Given the description of an element on the screen output the (x, y) to click on. 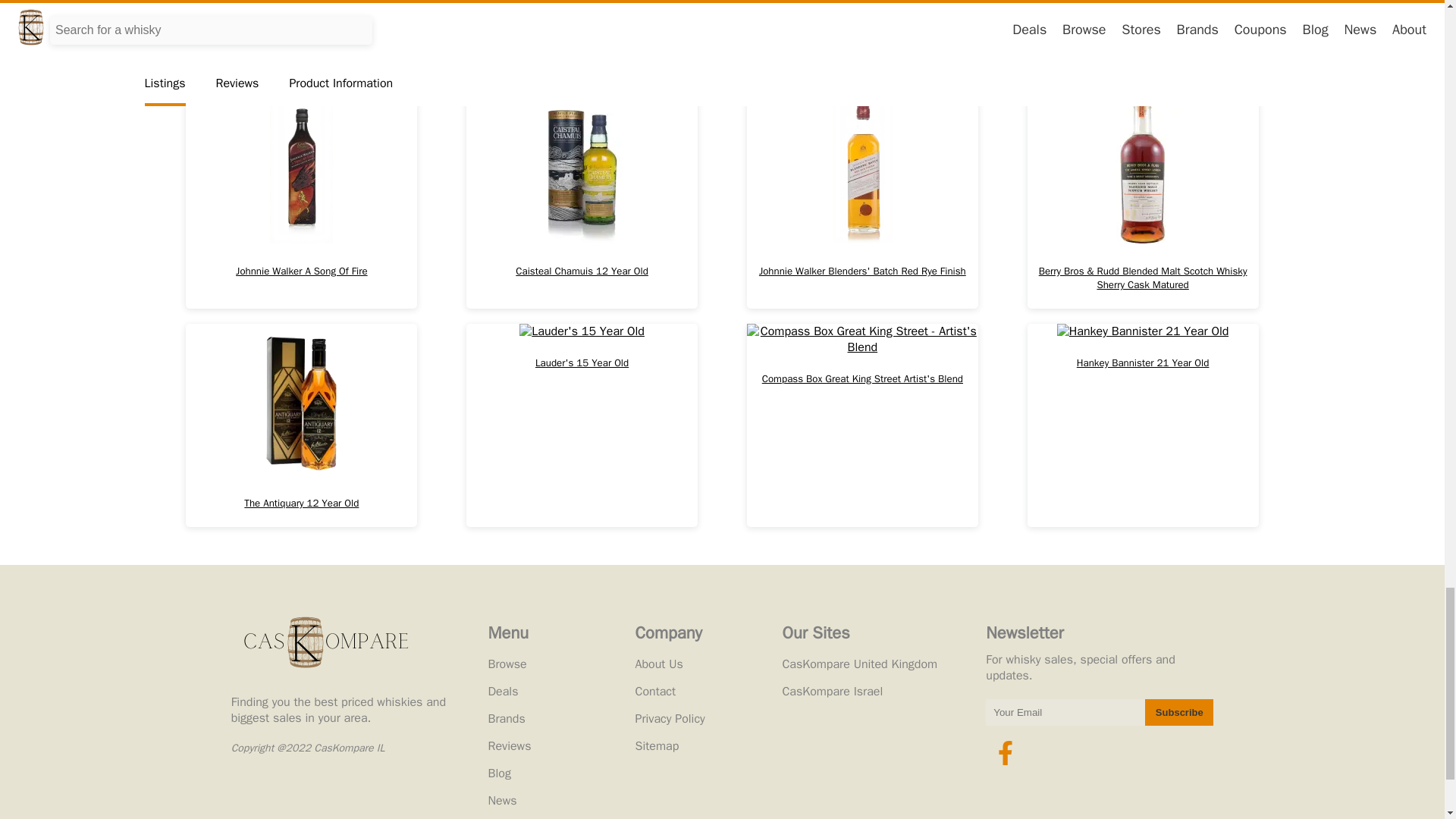
Cutty Sark Storm (581, 38)
Cutty Sark Blended Scotch Whisky (862, 38)
Johnnie Walker A Song Of Fire (301, 199)
Lauder's 15 Year Old (581, 425)
Johnnie Walker Blenders' Batch Red Rye Finish (862, 199)
Subscribe (1178, 712)
Compass Box Great King Street Artist's Blend (862, 425)
The Antiquary 12 Year Old (301, 425)
Caisteal Chamuis 12 Year Old (581, 199)
Cutty Sark Prohibition Edition Blended Scotch Whisky (301, 38)
